Given the description of an element on the screen output the (x, y) to click on. 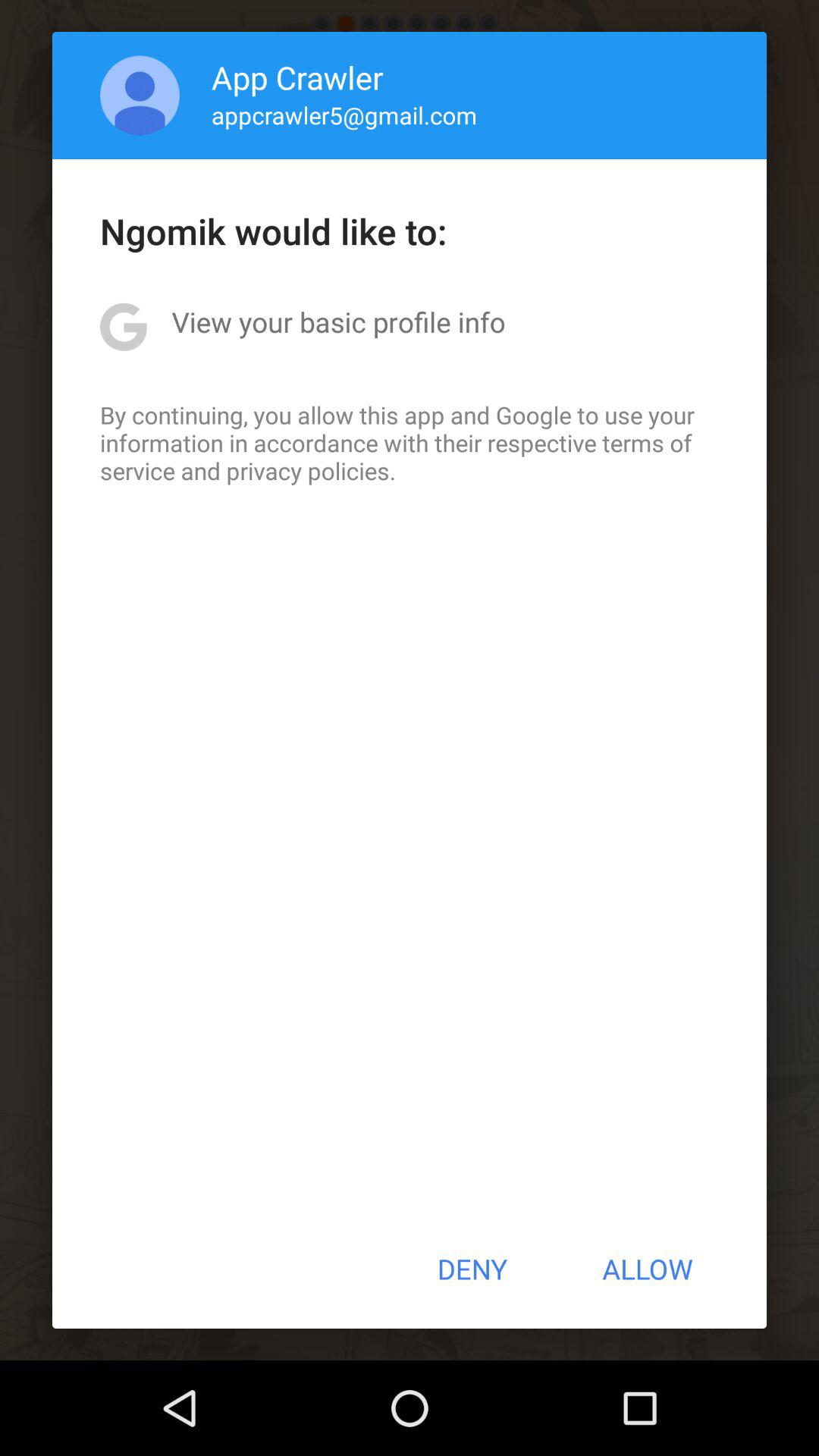
turn off the view your basic icon (338, 321)
